Given the description of an element on the screen output the (x, y) to click on. 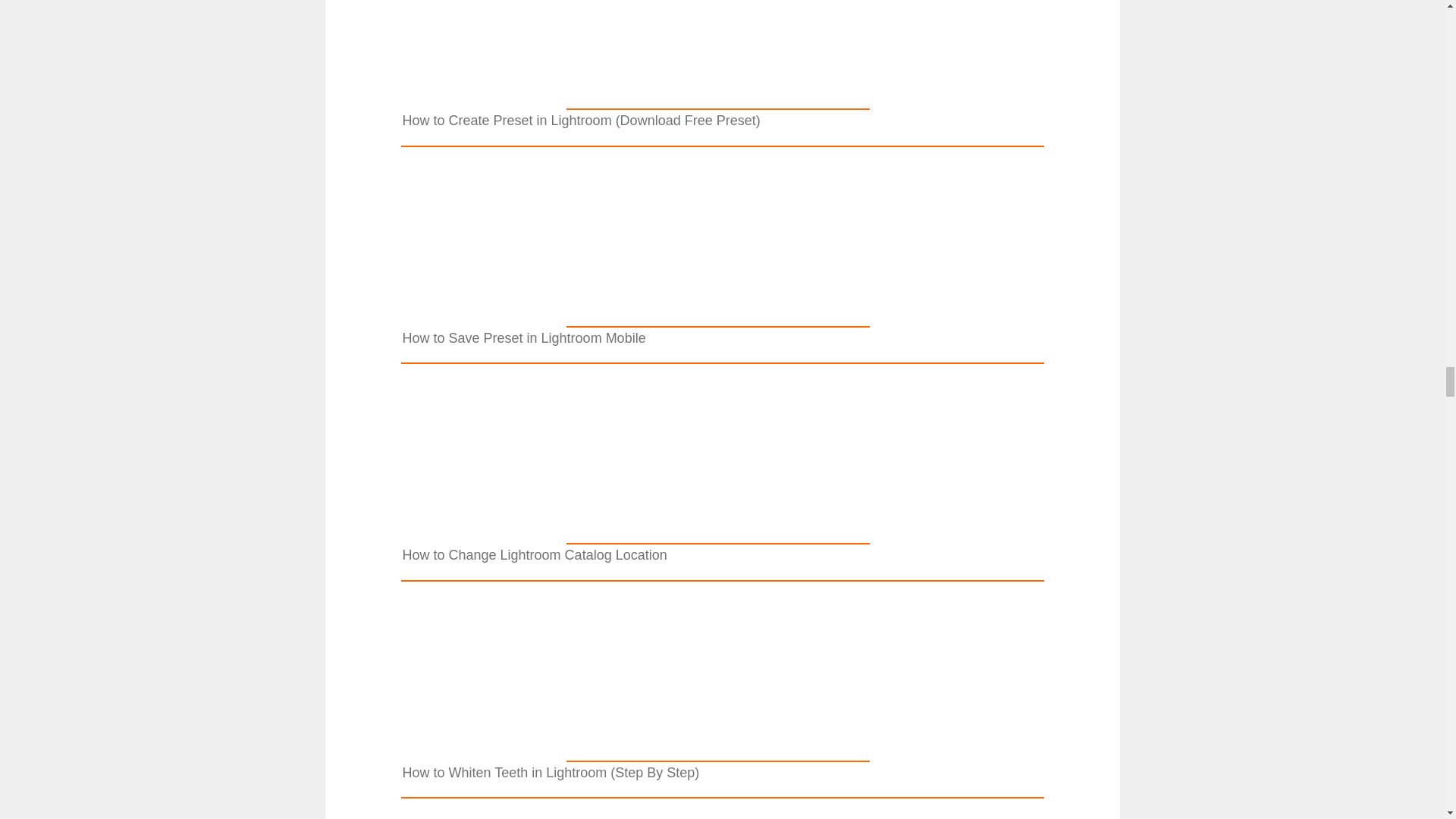
How to Change Lightroom Catalog Location (717, 534)
How to Save Preset in Lightroom Mobile (717, 317)
